Given the description of an element on the screen output the (x, y) to click on. 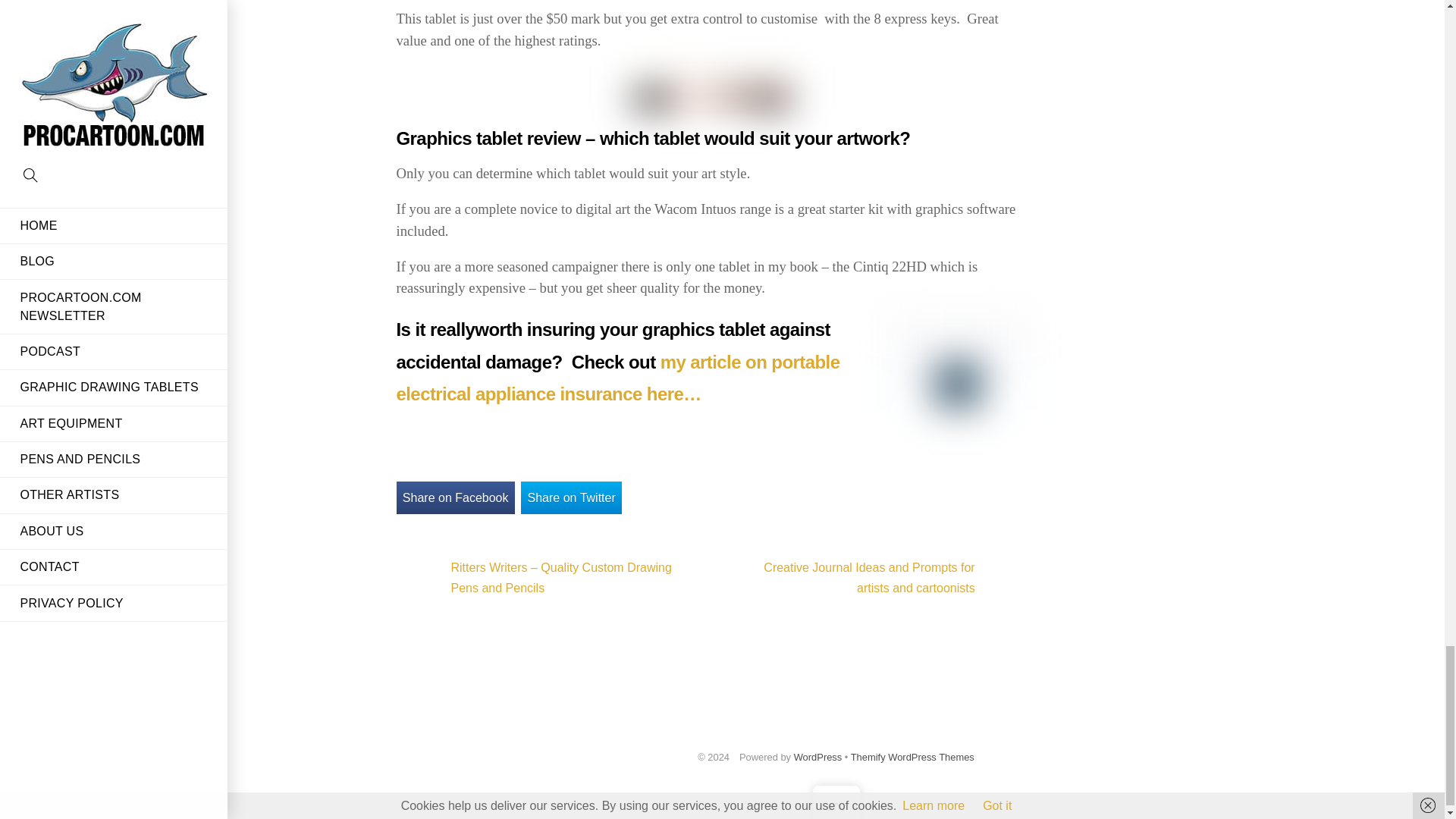
Share on Facebook (454, 497)
Share on Twitter (571, 497)
